Given the description of an element on the screen output the (x, y) to click on. 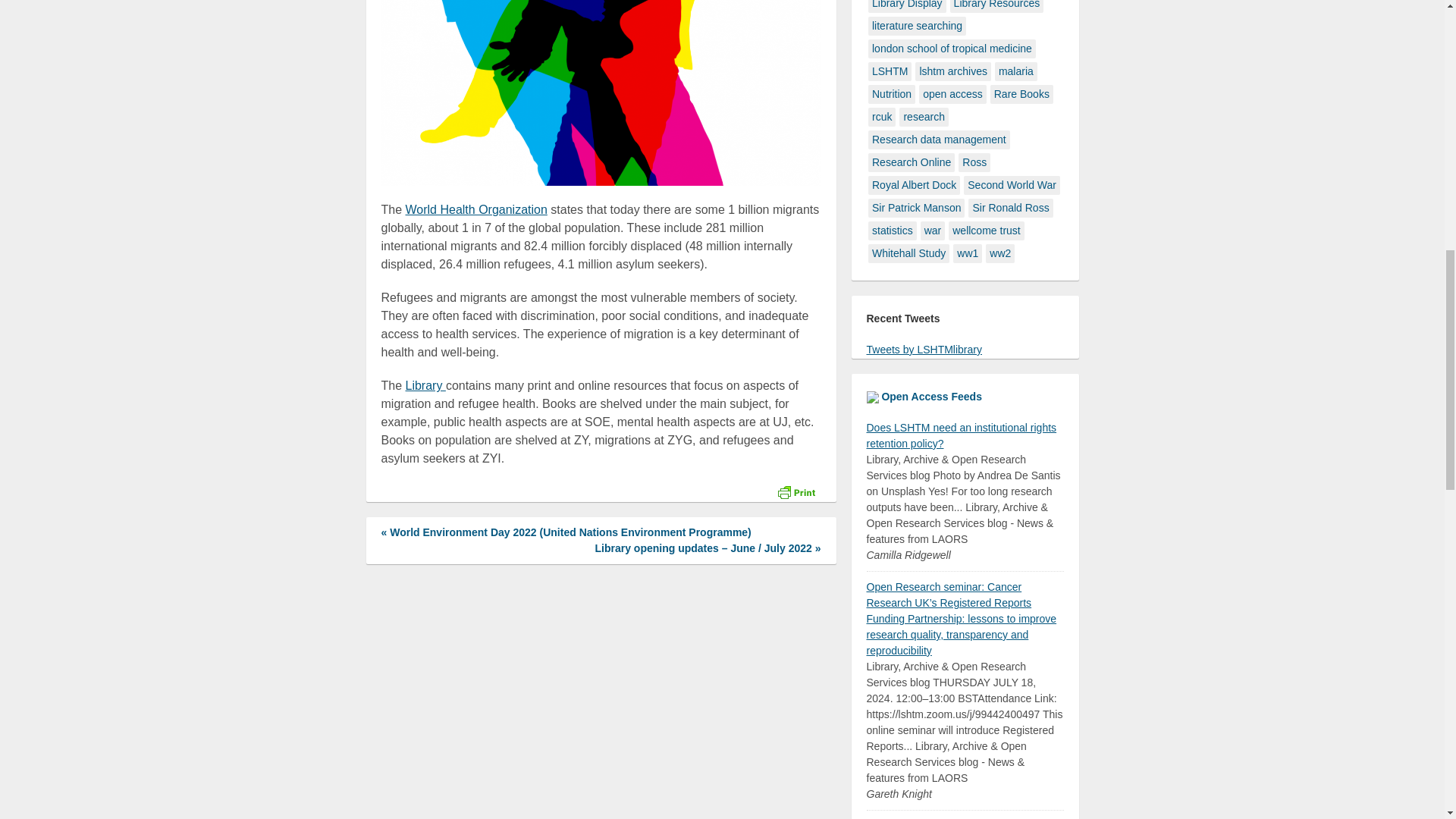
World Health Organization (476, 209)
Library (425, 385)
